Given the description of an element on the screen output the (x, y) to click on. 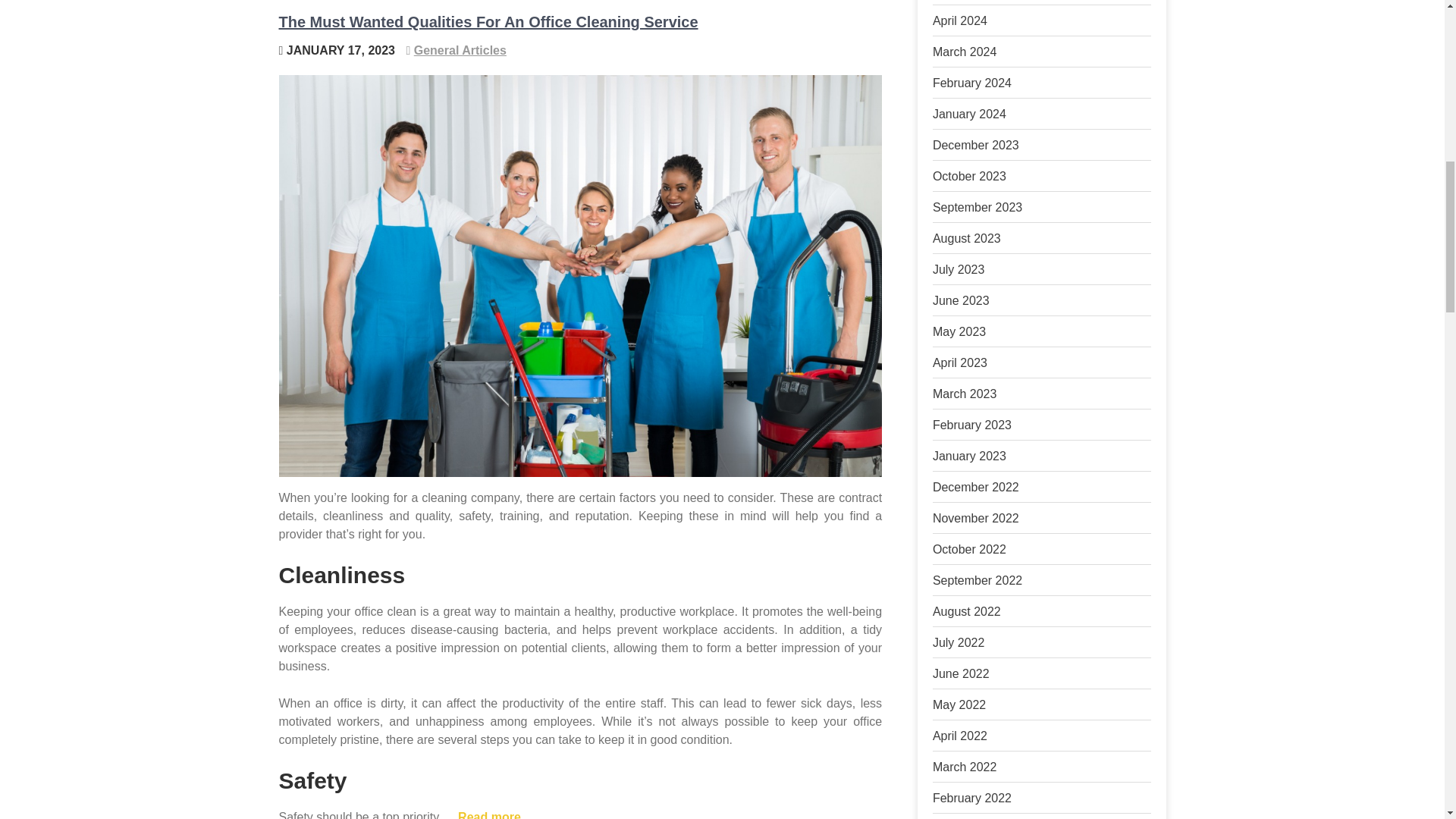
General Articles (459, 50)
Read more (489, 814)
The Must Wanted Qualities For An Office Cleaning Service (488, 21)
